Given the description of an element on the screen output the (x, y) to click on. 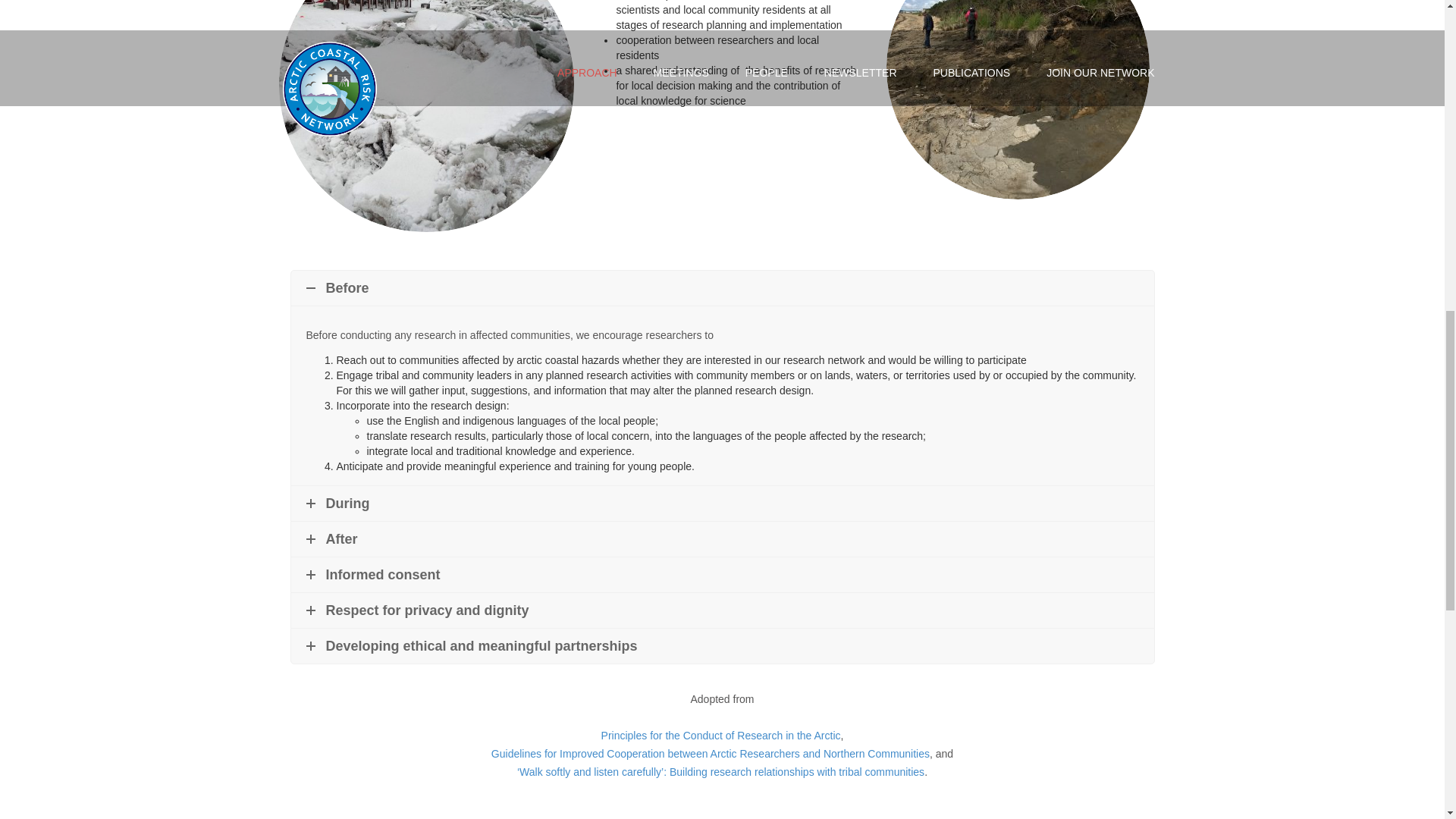
Developing ethical and meaningful partnerships (722, 645)
Informed consent (722, 574)
Respect for privacy and dignity (722, 610)
During (722, 503)
Principles for the Conduct of Research in the Arctic (721, 735)
After (722, 538)
Before (722, 288)
